Given the description of an element on the screen output the (x, y) to click on. 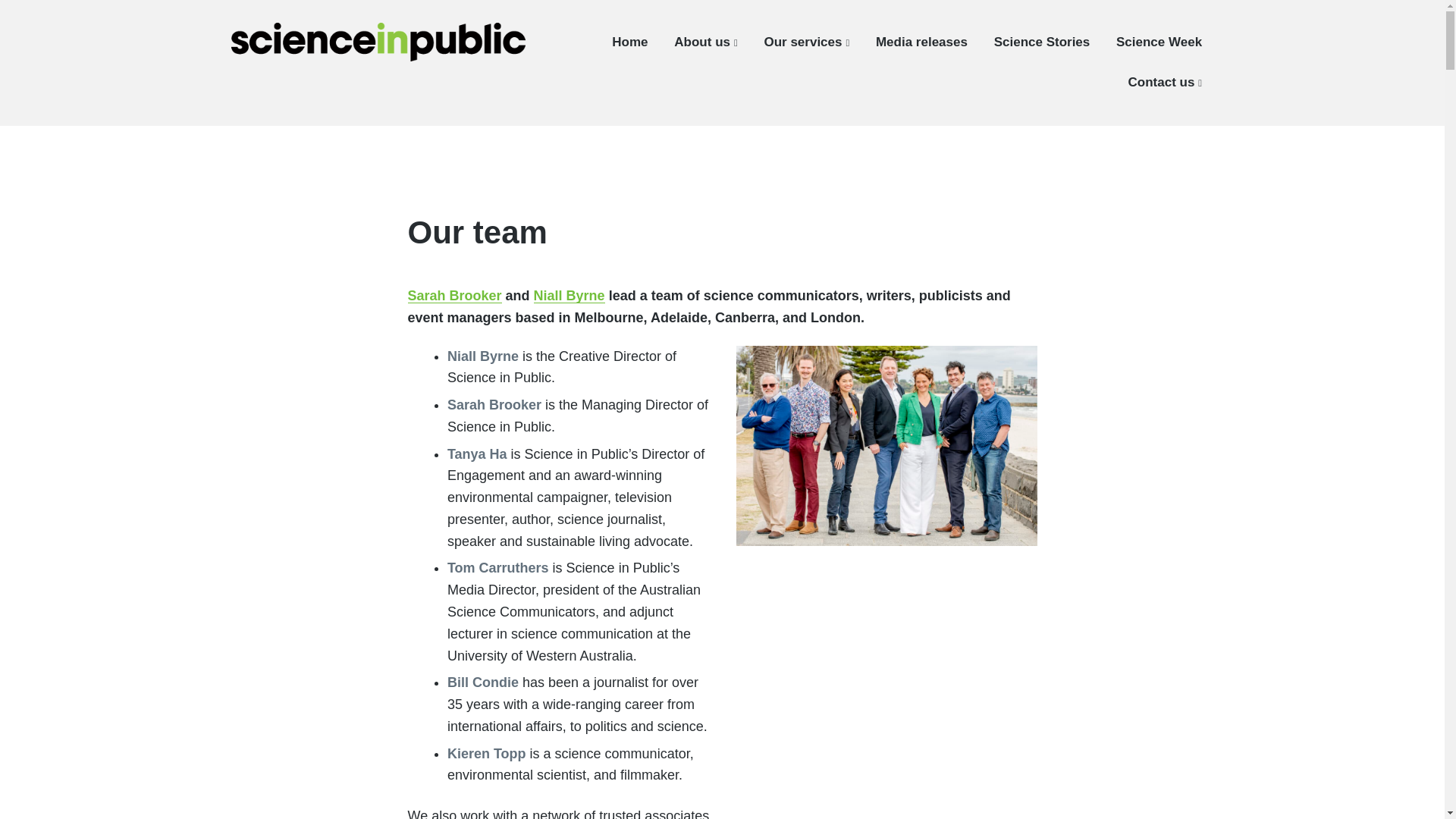
Science Week (1159, 42)
Our services (805, 42)
Science In Public (312, 78)
Media releases (922, 42)
About us (705, 42)
Science Stories (1042, 42)
Home (629, 42)
